Given the description of an element on the screen output the (x, y) to click on. 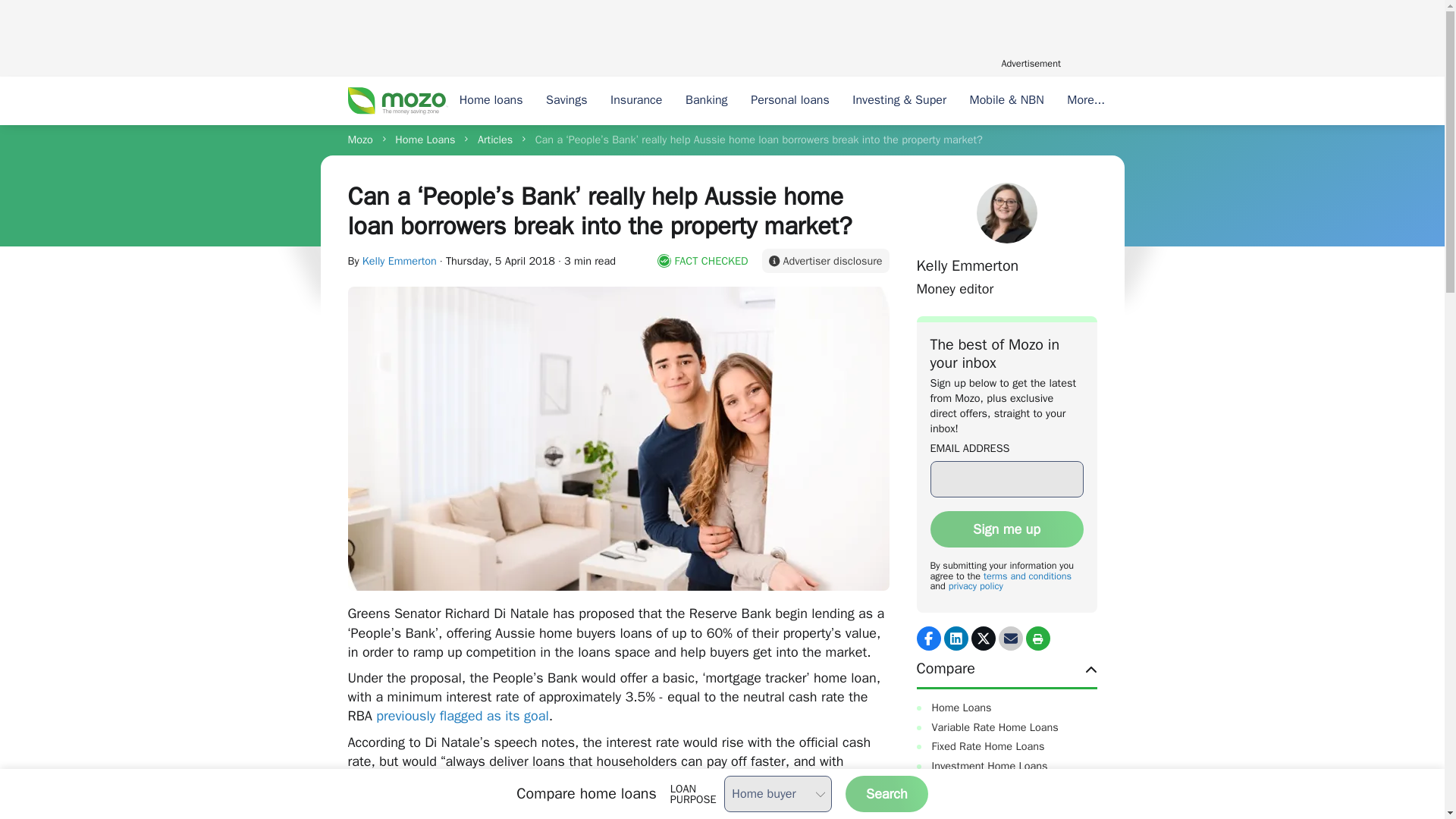
Savings (565, 101)
Insurance (635, 101)
Home loans (490, 101)
